Given the description of an element on the screen output the (x, y) to click on. 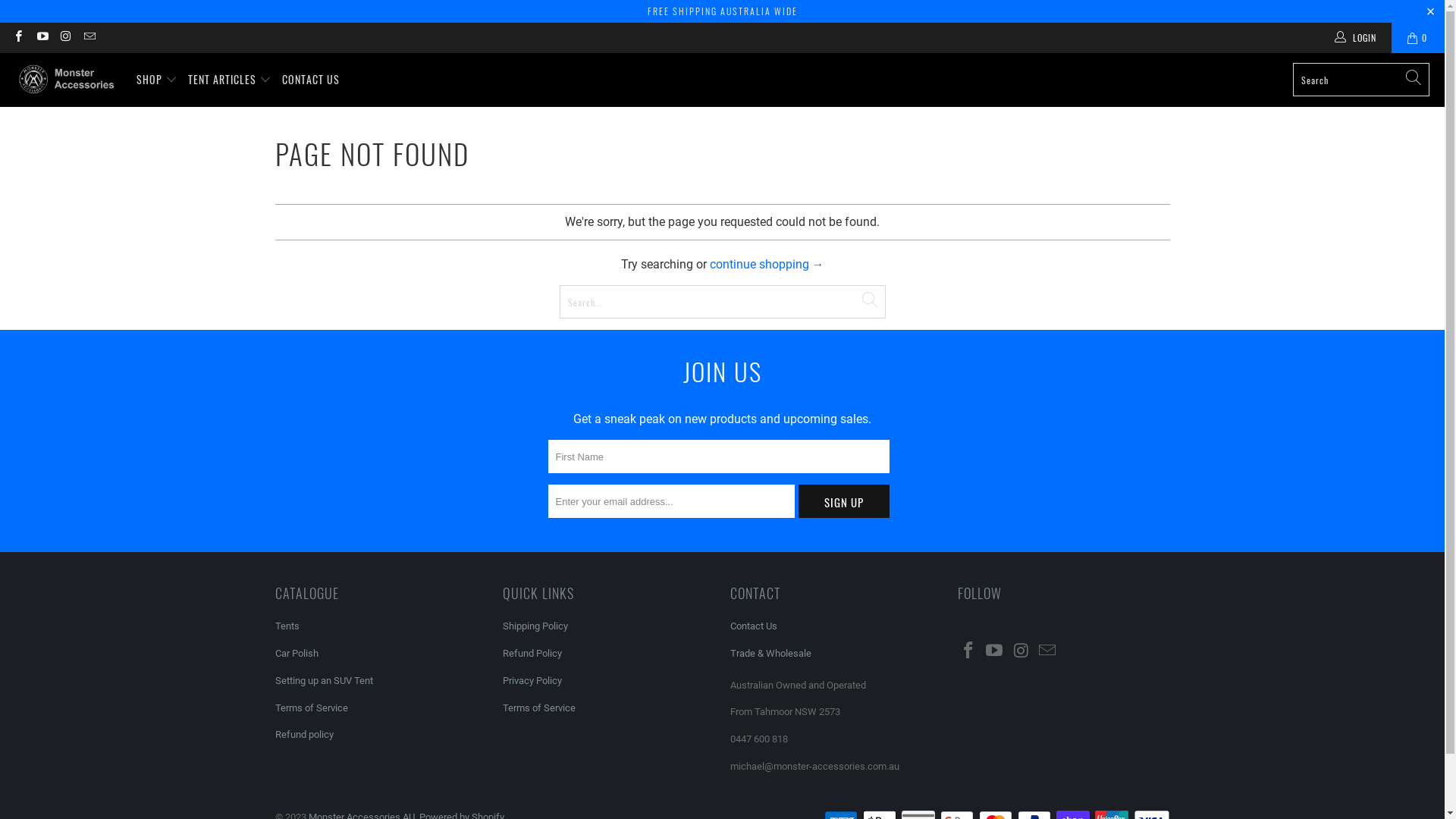
Email Monster Accessories AU Element type: hover (1047, 651)
Monster Accessories AU on Facebook Element type: hover (17, 37)
Trade & Wholesale Element type: text (769, 652)
Setting up an SUV Tent Element type: text (323, 680)
Monster Accessories AU on Instagram Element type: hover (1021, 651)
0 Element type: text (1417, 37)
Refund policy Element type: text (303, 734)
Email Monster Accessories AU Element type: hover (88, 37)
Privacy Policy Element type: text (531, 680)
Sign Up Element type: text (842, 500)
Refund Policy Element type: text (531, 652)
Monster Accessories AU on YouTube Element type: hover (40, 37)
Shipping Policy Element type: text (534, 625)
Monster Accessories AU Element type: hover (68, 79)
Terms of Service Element type: text (310, 707)
Tents Element type: text (286, 625)
Contact Us Element type: text (752, 625)
Monster Accessories AU on Instagram Element type: hover (65, 37)
CONTACT US Element type: text (310, 79)
Terms of Service Element type: text (538, 707)
LOGIN Element type: text (1356, 37)
Car Polish Element type: text (295, 652)
Monster Accessories AU on Facebook Element type: hover (968, 651)
Monster Accessories AU on YouTube Element type: hover (994, 651)
TENT ARTICLES Element type: text (229, 79)
SHOP Element type: text (156, 79)
